Given the description of an element on the screen output the (x, y) to click on. 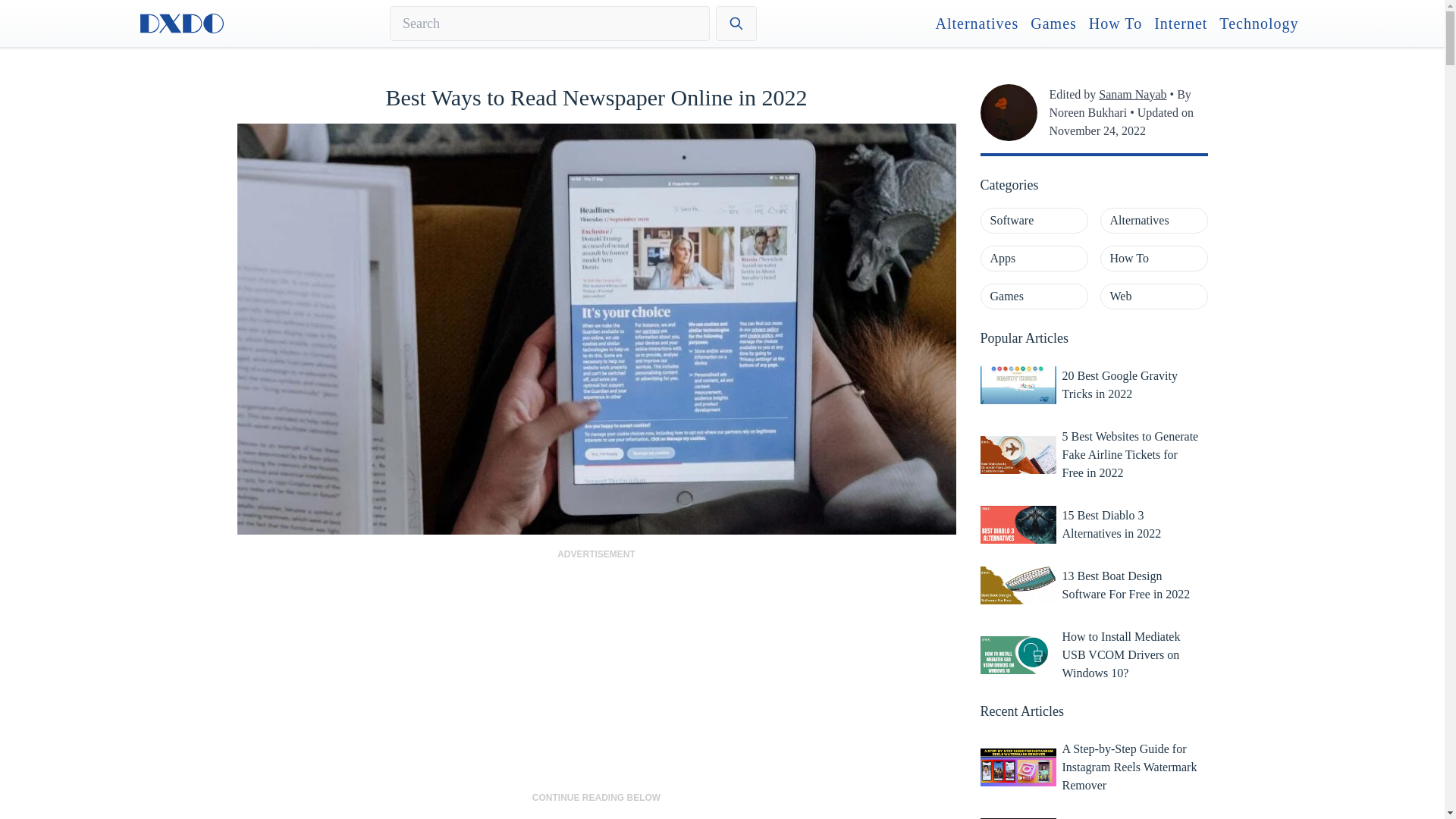
Technology (1259, 23)
How To (1153, 258)
20 Best Google Gravity Tricks in 2022 (1131, 385)
Apps (1033, 258)
Sanam Nayab (1132, 93)
How To (1115, 23)
13 Best Boat Design Software For Free in 2022 (1131, 585)
Alternatives (977, 23)
15 Best Diablo 3 Alternatives in 2022 (1131, 524)
Internet (1180, 23)
Web (1153, 296)
Games (1053, 23)
Games (1033, 296)
Software (1033, 220)
